Given the description of an element on the screen output the (x, y) to click on. 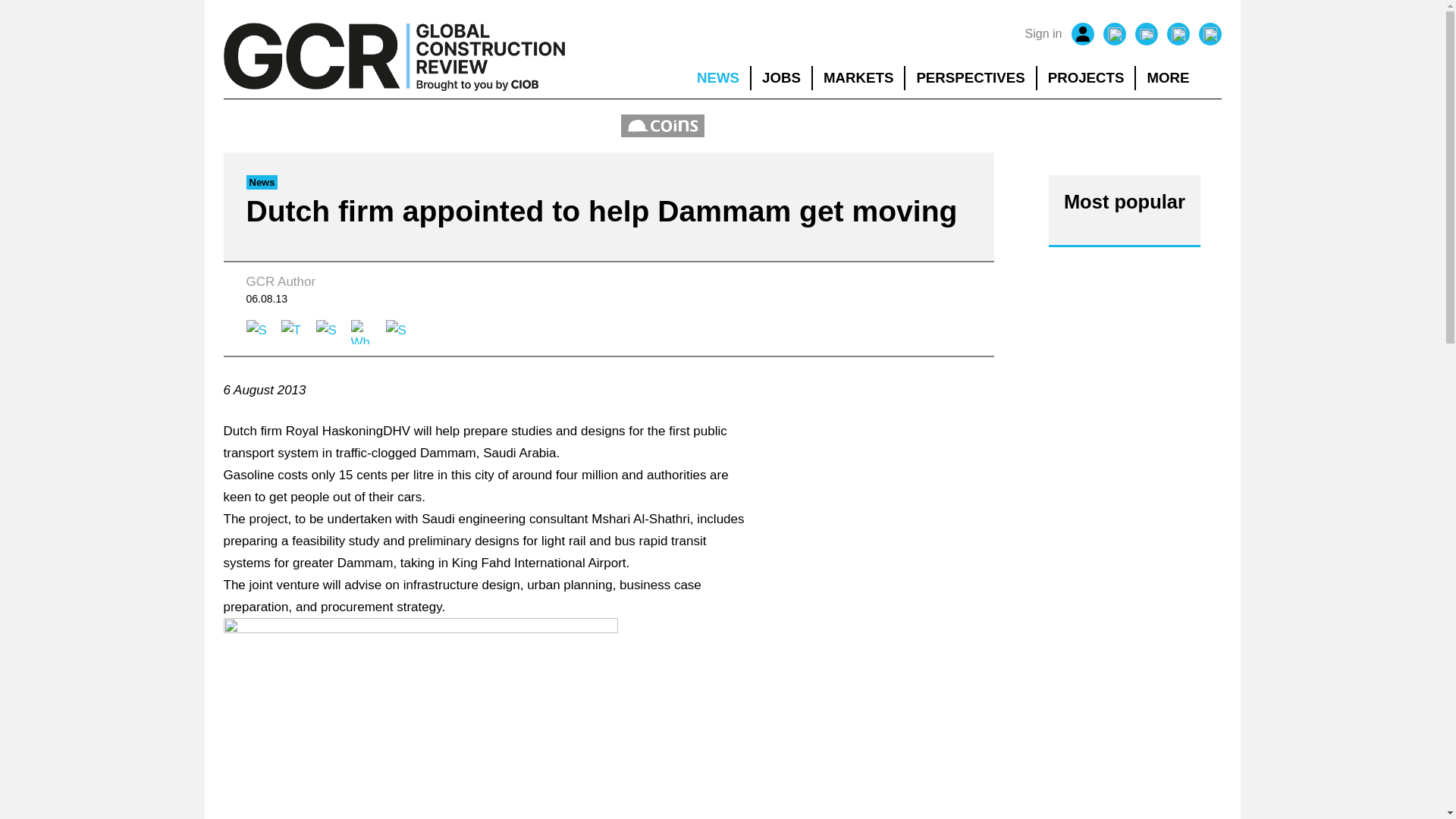
MORE (1178, 78)
Tweet (292, 331)
PROJECTS (1085, 78)
Send email (397, 331)
Share on Facebook (257, 331)
PERSPECTIVES (970, 78)
JOBS (780, 78)
Sign in (1043, 34)
Share on WhatsApp (362, 331)
NEWS (717, 78)
Share on LinkedIn (327, 331)
MARKETS (858, 78)
